Given the description of an element on the screen output the (x, y) to click on. 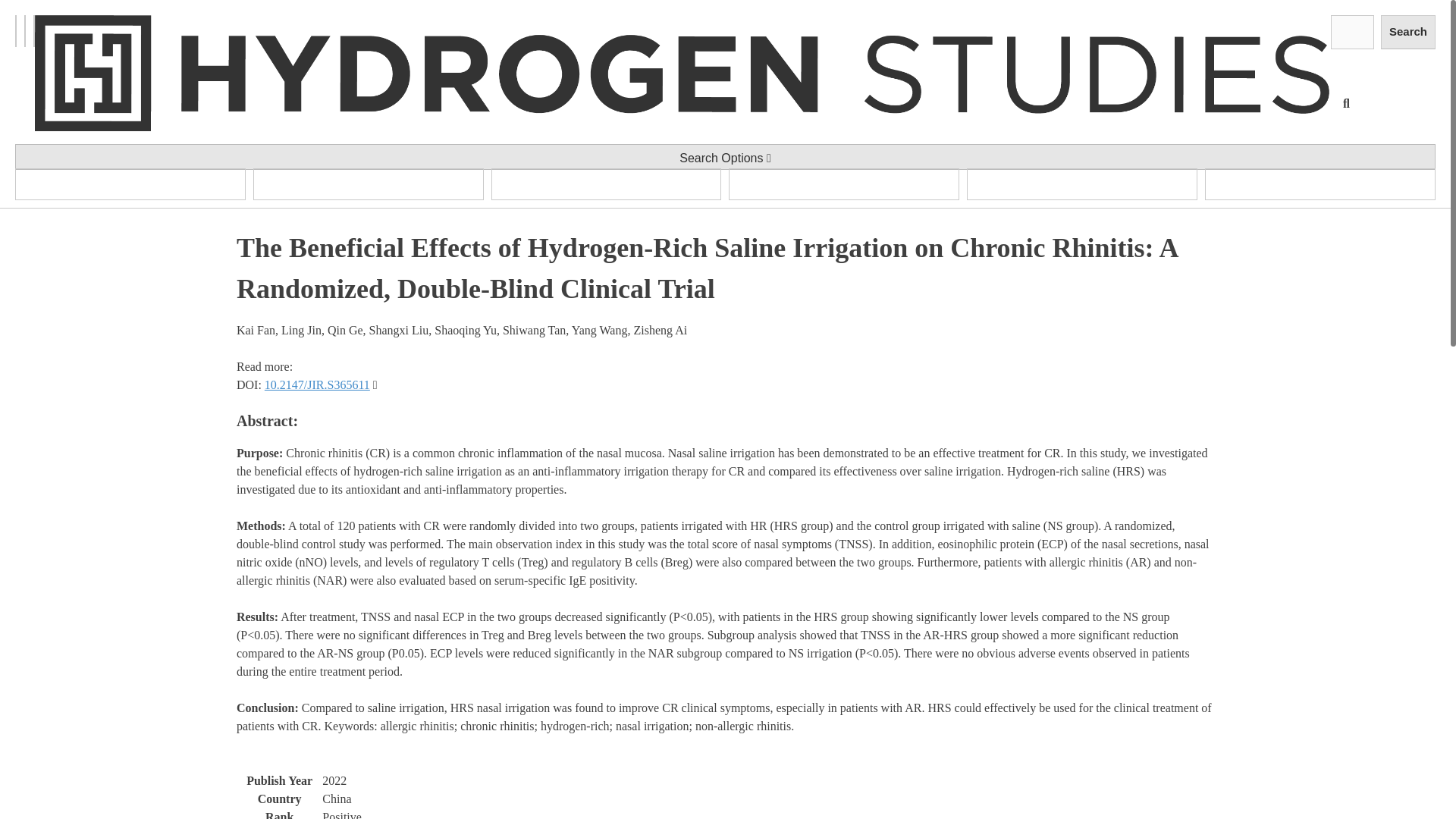
Search (1407, 32)
Search (1407, 32)
Search Options (724, 156)
Search (1407, 32)
